Given the description of an element on the screen output the (x, y) to click on. 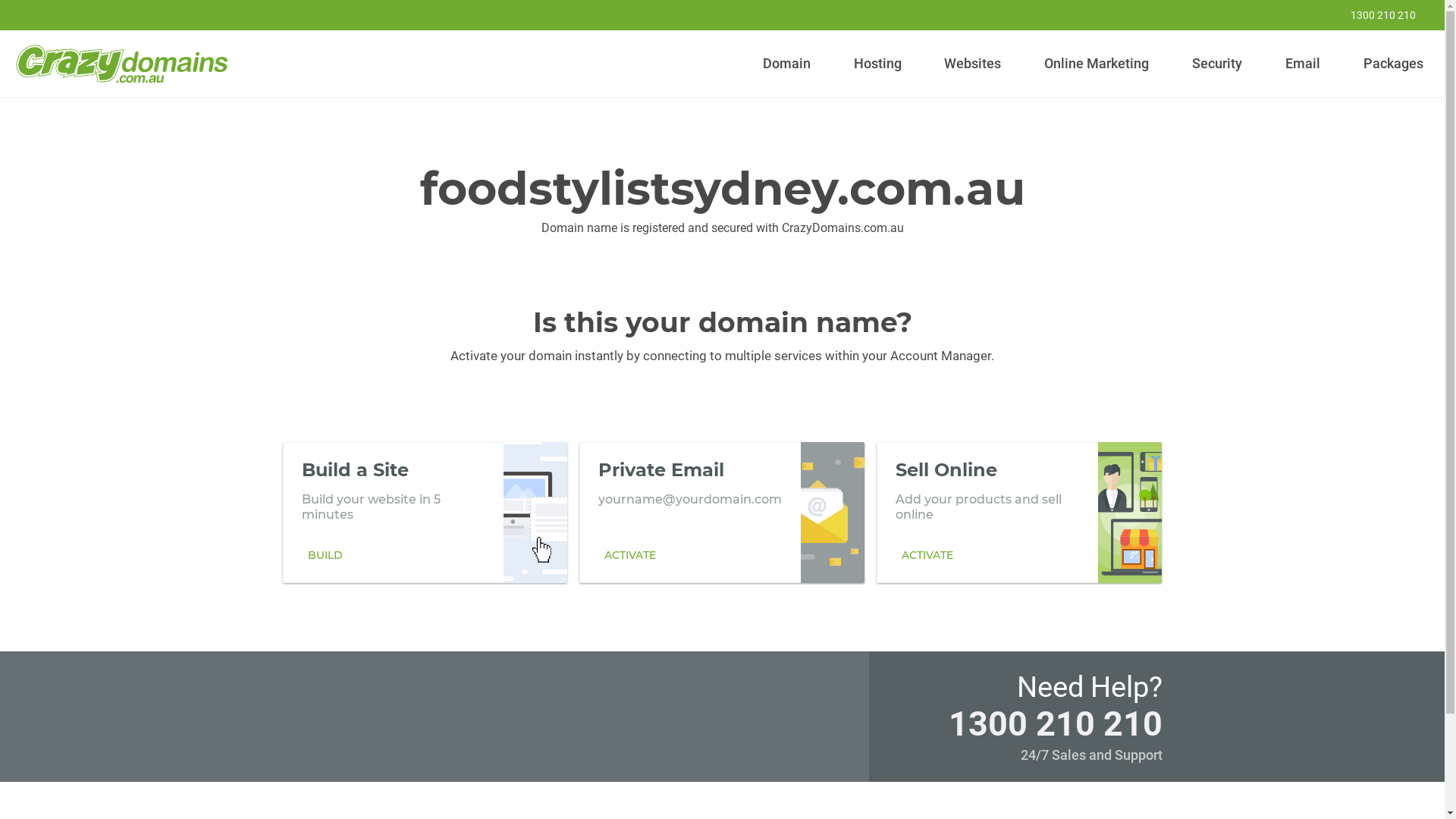
Websites Element type: text (972, 63)
Domain Element type: text (786, 63)
Private Email
yourname@yourdomain.com
ACTIVATE Element type: text (721, 511)
Sell Online
Add your products and sell online
ACTIVATE Element type: text (1018, 511)
Online Marketing Element type: text (1096, 63)
Hosting Element type: text (877, 63)
Packages Element type: text (1392, 63)
Email Element type: text (1302, 63)
Security Element type: text (1217, 63)
Build a Site
Build your website in 5 minutes
BUILD Element type: text (424, 511)
1300 210 210 Element type: text (1054, 723)
1300 210 210 Element type: text (1373, 15)
